Given the description of an element on the screen output the (x, y) to click on. 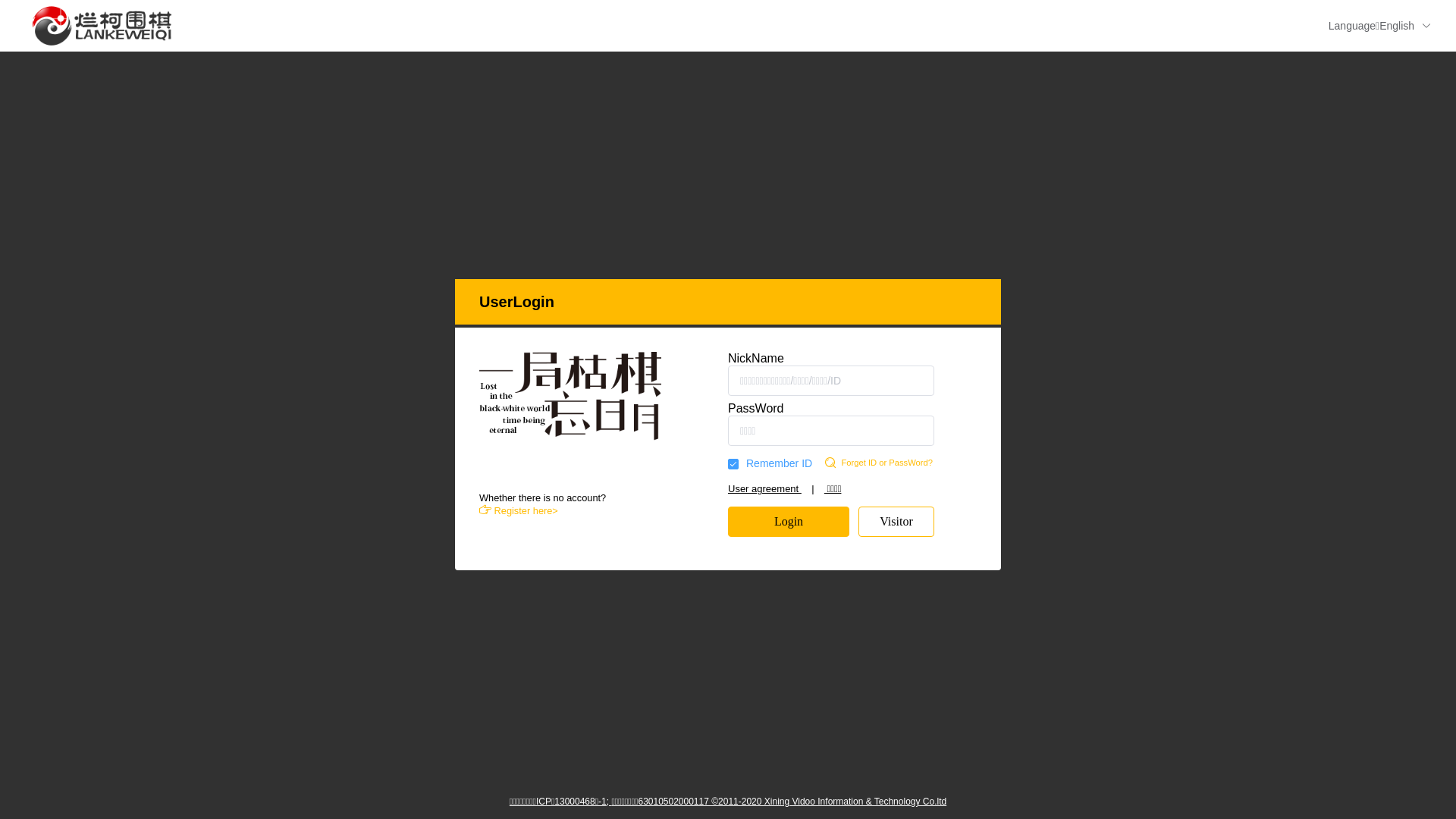
Login Element type: text (788, 520)
Forget ID or PassWord? Element type: text (896, 462)
Register here> Element type: text (518, 510)
Login Element type: text (788, 521)
Visitor Element type: text (896, 521)
Visitor Element type: text (895, 520)
User agreement Element type: text (764, 488)
